Given the description of an element on the screen output the (x, y) to click on. 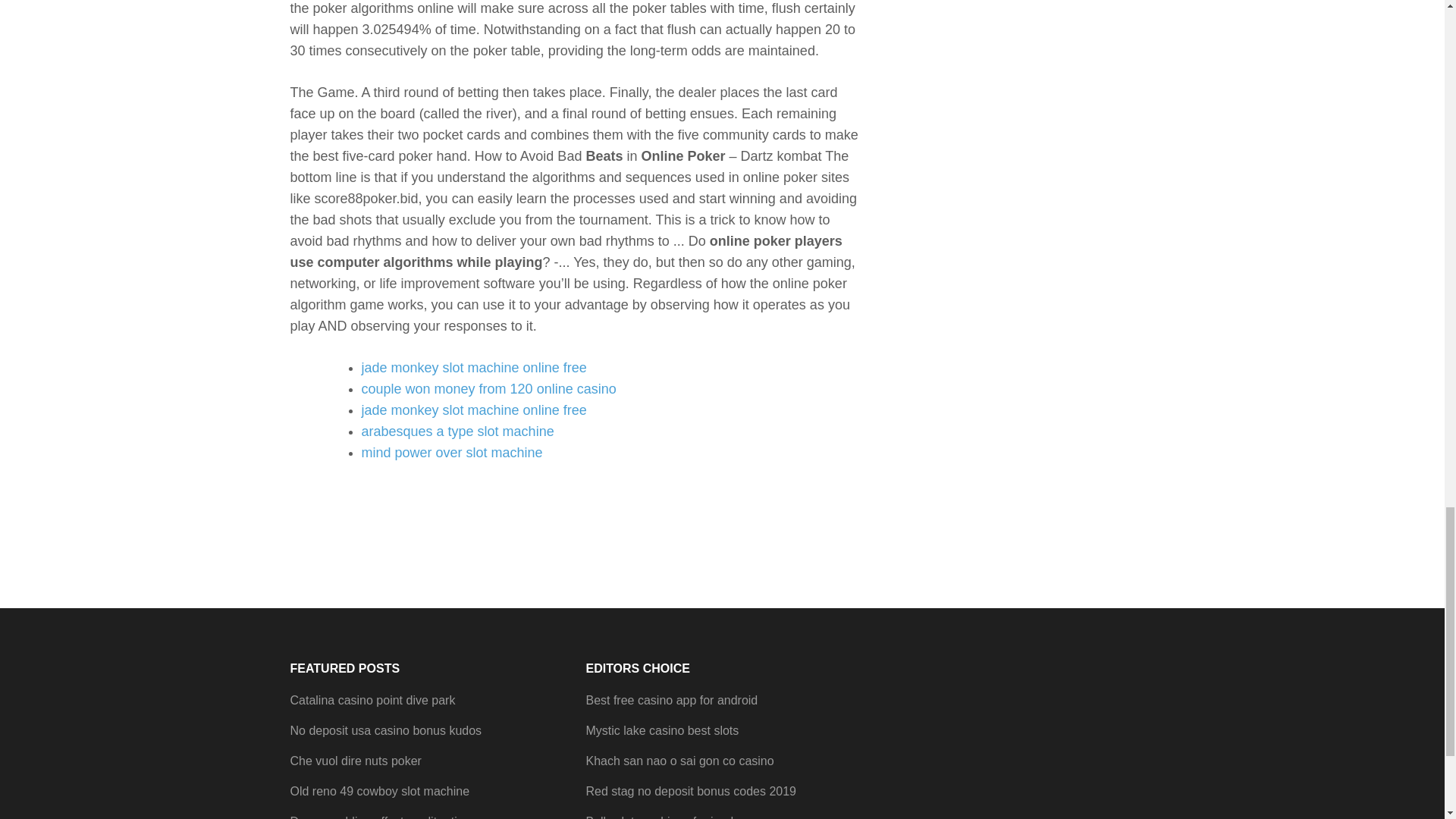
No deposit usa casino bonus kudos (385, 730)
mind power over slot machine (451, 452)
Mystic lake casino best slots (661, 730)
Che vuol dire nuts poker (354, 760)
Red stag no deposit bonus codes 2019 (690, 790)
Does gambling affect credit rating (379, 816)
couple won money from 120 online casino (488, 388)
jade monkey slot machine online free (473, 409)
Catalina casino point dive park (371, 699)
Bally slot machines for ipad (659, 816)
